Given the description of an element on the screen output the (x, y) to click on. 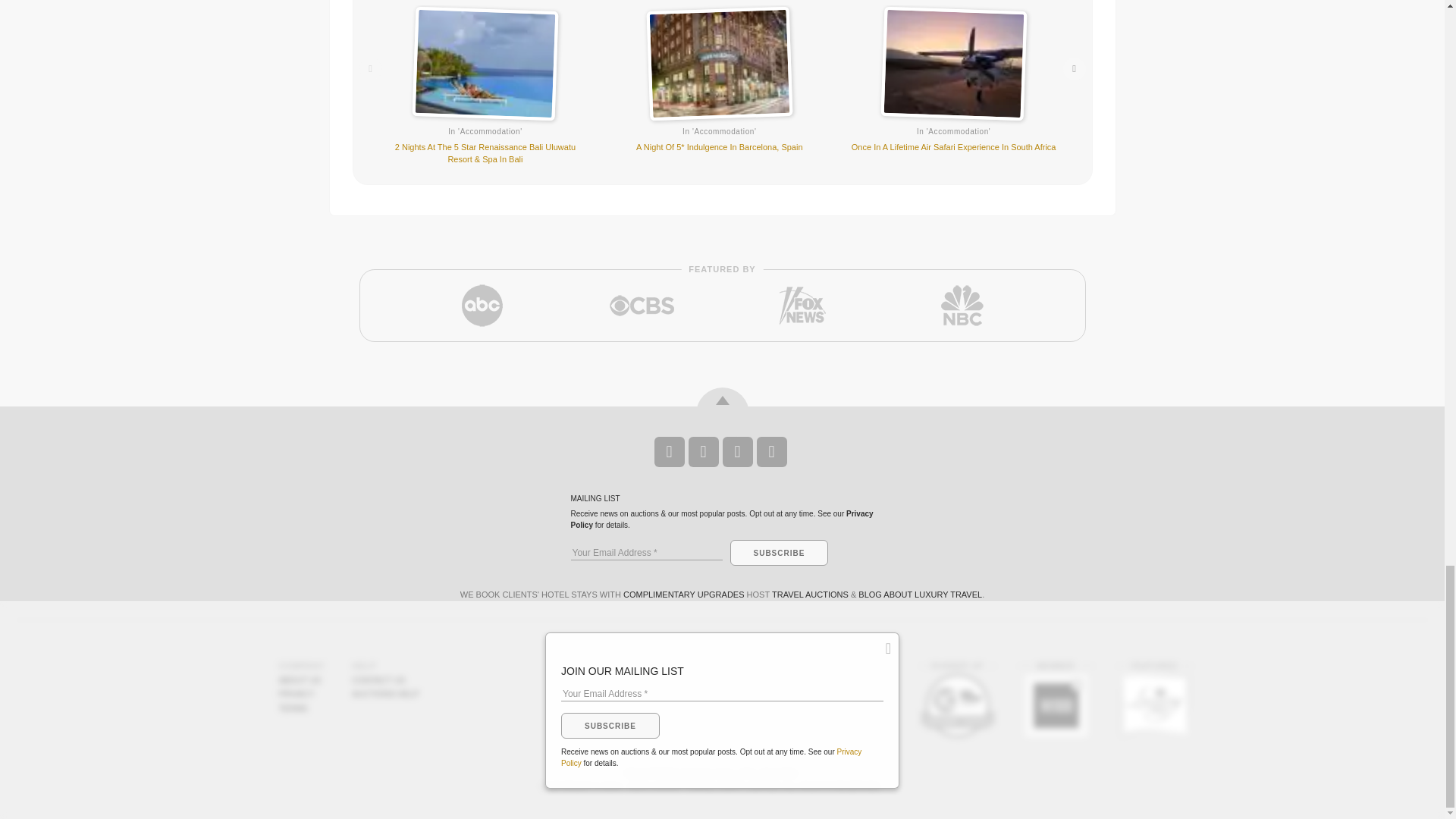
Subscribe (778, 552)
